Given the description of an element on the screen output the (x, y) to click on. 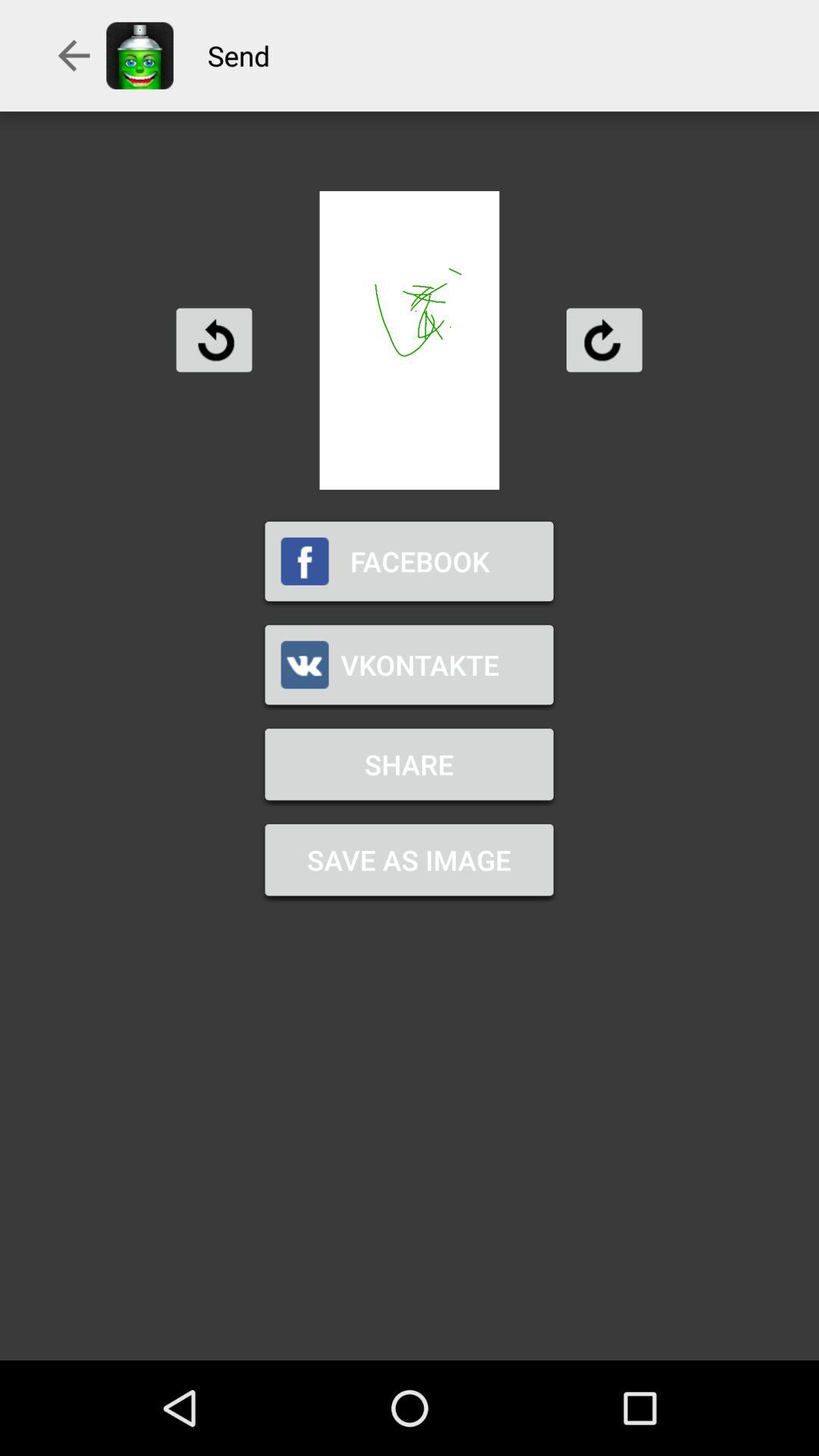
click the icon above the facebook item (213, 339)
